Given the description of an element on the screen output the (x, y) to click on. 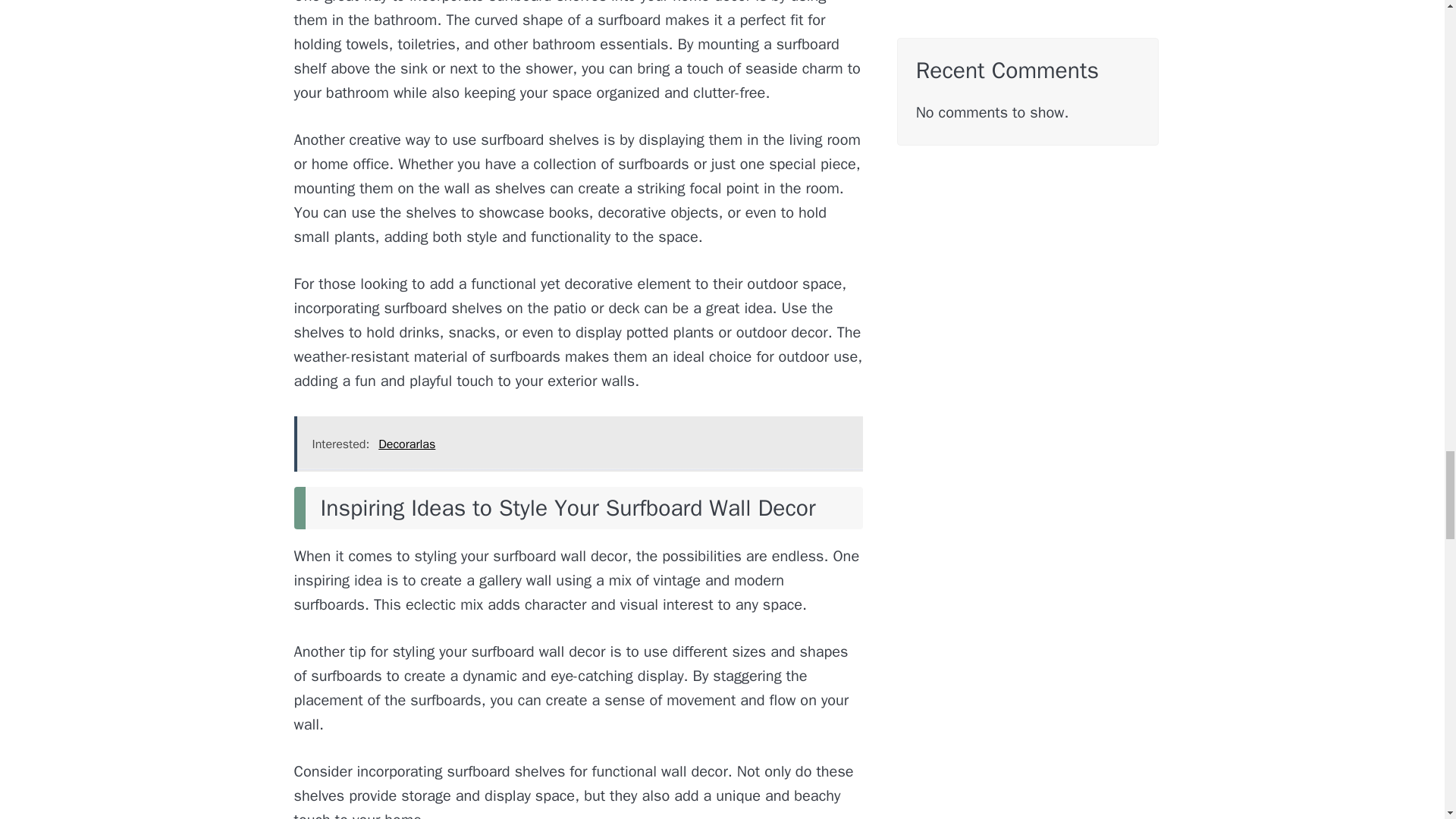
Interested:  Decorarlas (578, 443)
